Given the description of an element on the screen output the (x, y) to click on. 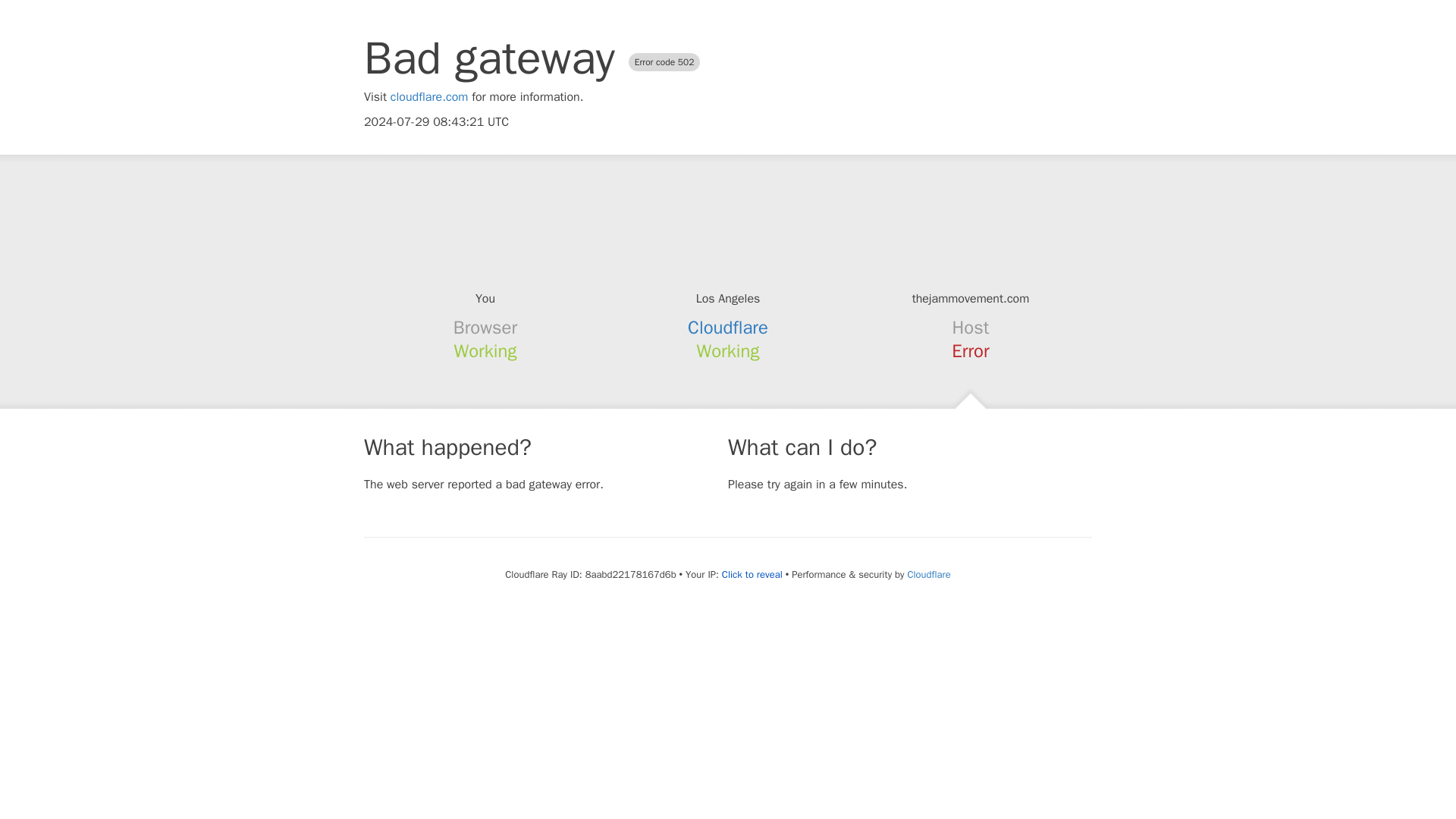
cloudflare.com (429, 96)
Cloudflare (727, 327)
Cloudflare (928, 574)
Click to reveal (752, 574)
